Given the description of an element on the screen output the (x, y) to click on. 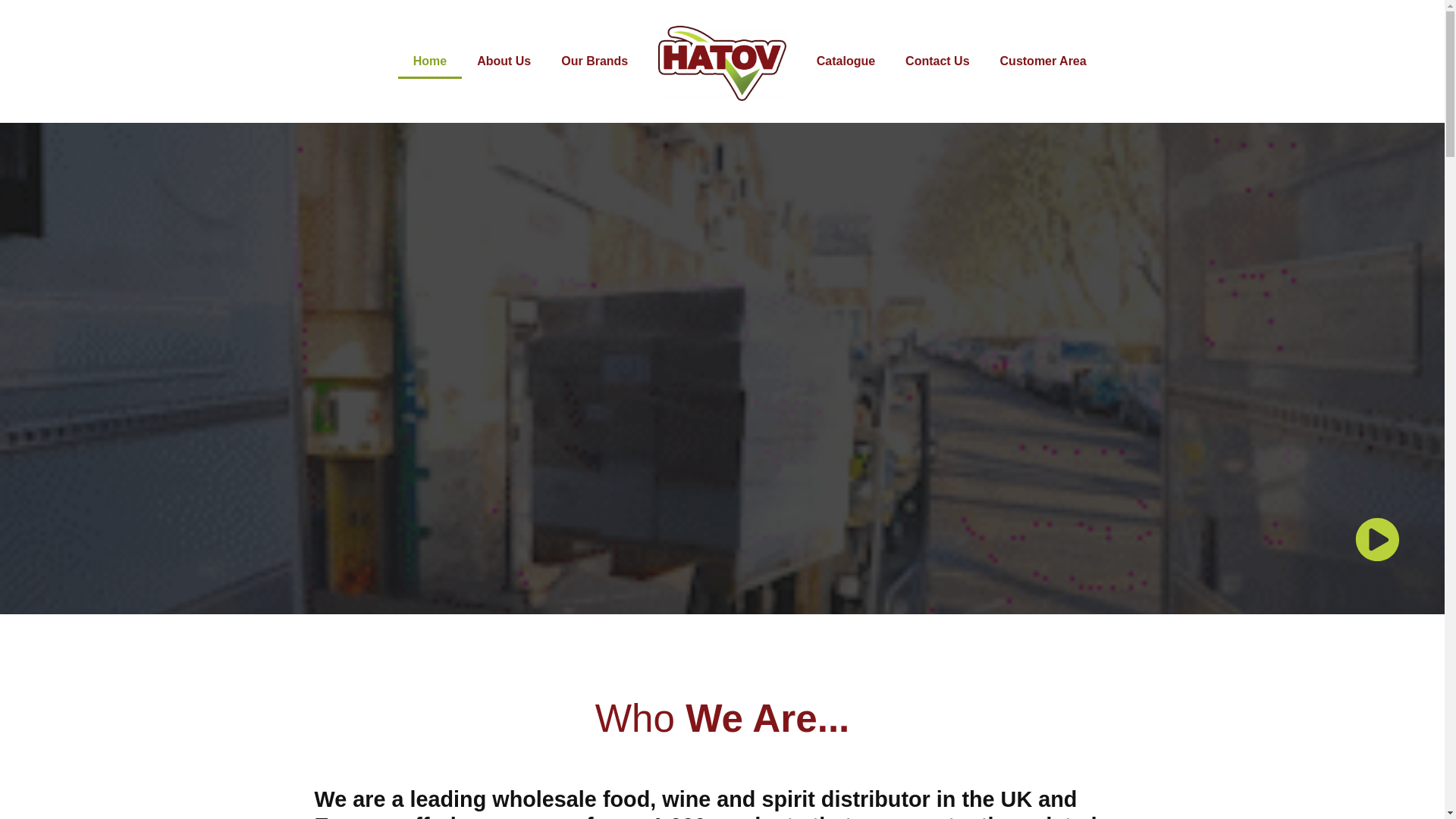
About Us (503, 61)
Our Brands (594, 61)
Home (429, 61)
Catalogue (845, 61)
Customer Area (1043, 61)
Contact Us (936, 61)
